Given the description of an element on the screen output the (x, y) to click on. 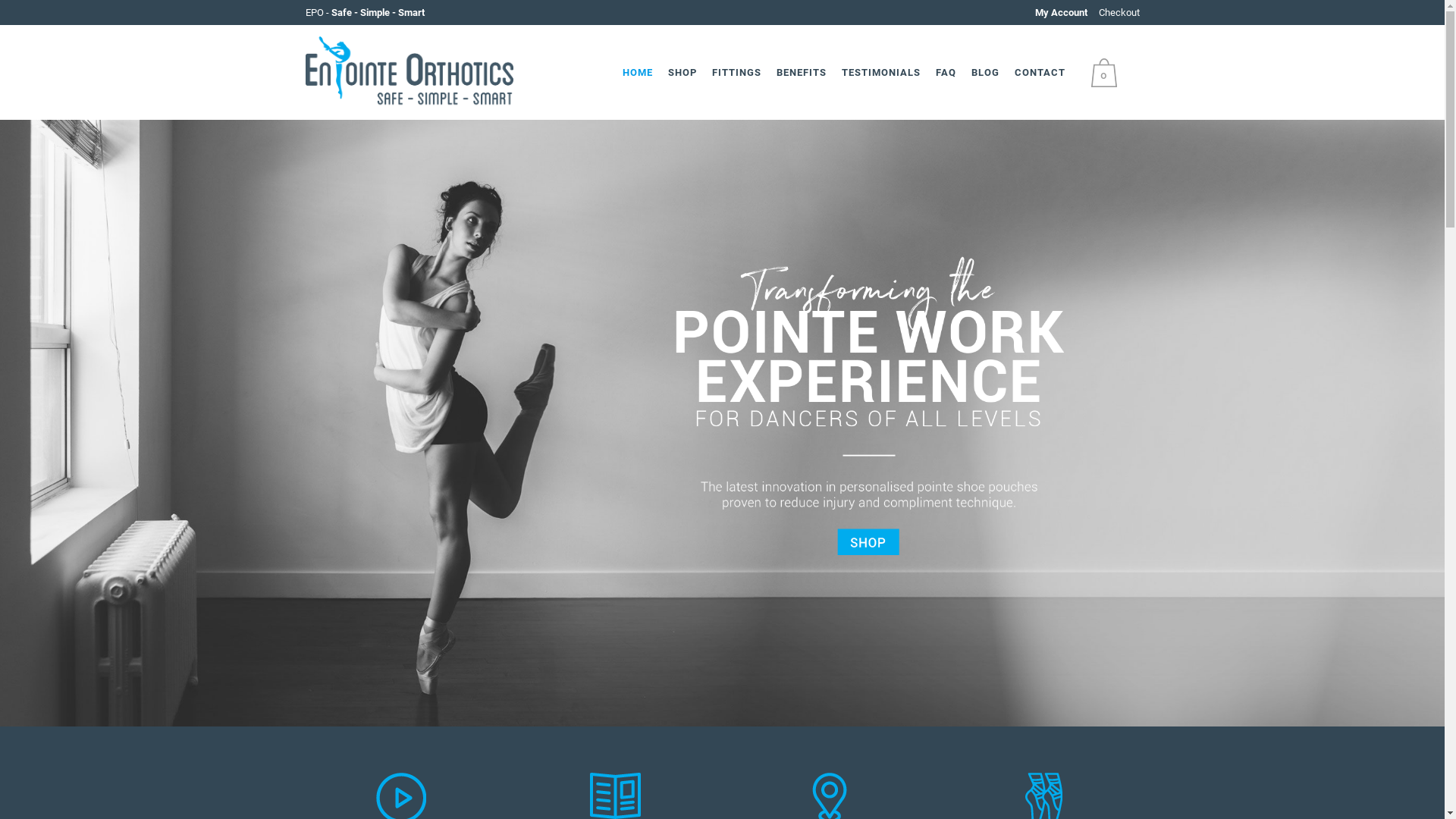
CONTACT Element type: text (1040, 72)
Checkout Element type: text (1118, 12)
TESTIMONIALS Element type: text (881, 72)
SHOP Element type: text (681, 72)
0 Element type: text (1106, 71)
HOME Element type: text (636, 72)
FITTINGS Element type: text (735, 72)
FAQ Element type: text (945, 72)
BLOG Element type: text (984, 72)
BENEFITS Element type: text (801, 72)
My Account Element type: text (1061, 12)
